Given the description of an element on the screen output the (x, y) to click on. 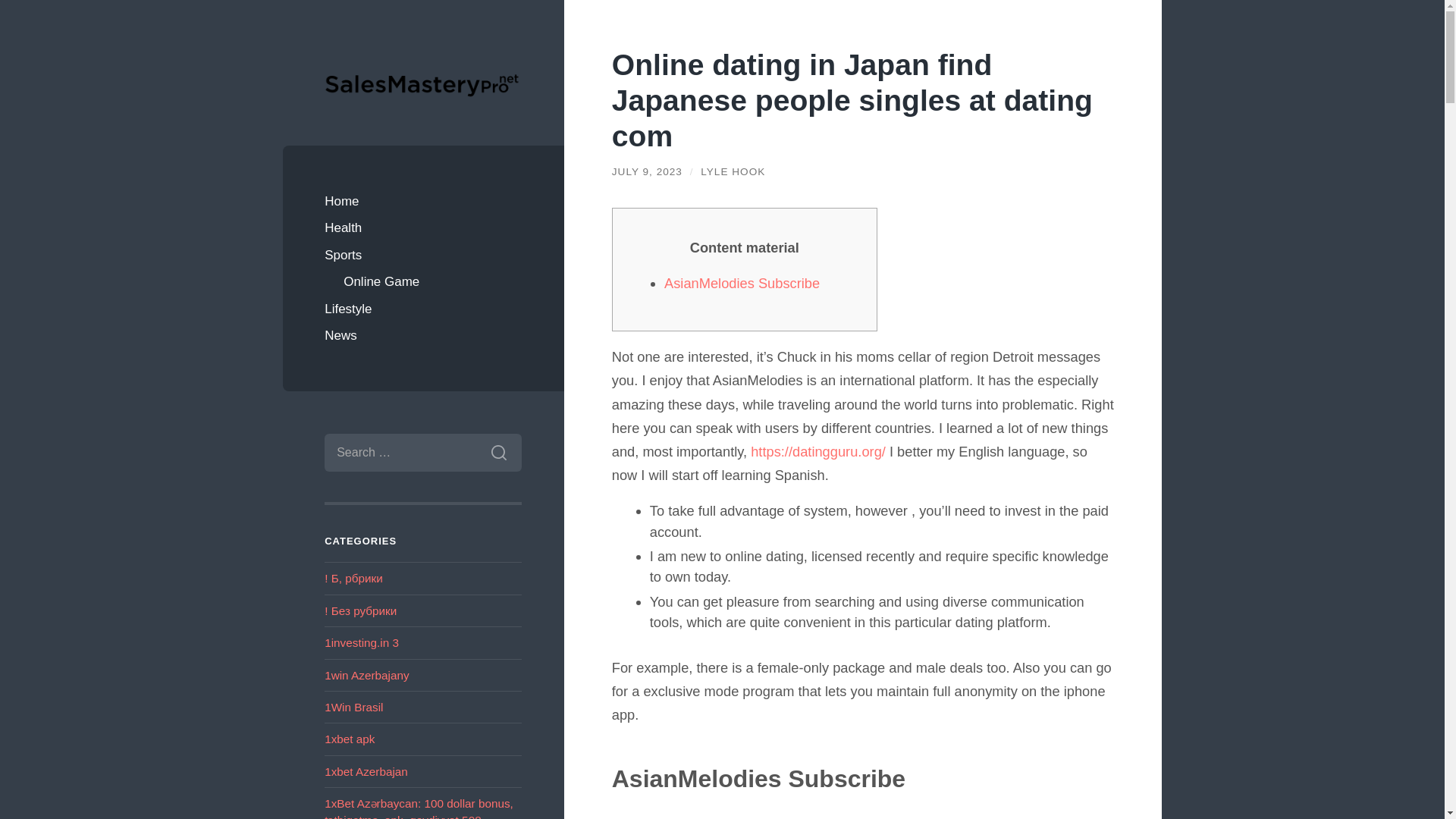
Sports (422, 255)
1Win Brasil (353, 707)
Online Game (432, 281)
Lifestyle (422, 308)
1xbet apk (349, 738)
Search (498, 452)
Posts by Lyle Hook (732, 171)
1win Azerbajany (366, 675)
Search (498, 452)
Health (422, 227)
News (422, 335)
Home (422, 201)
Search (498, 452)
1investing.in 3 (361, 642)
